Given the description of an element on the screen output the (x, y) to click on. 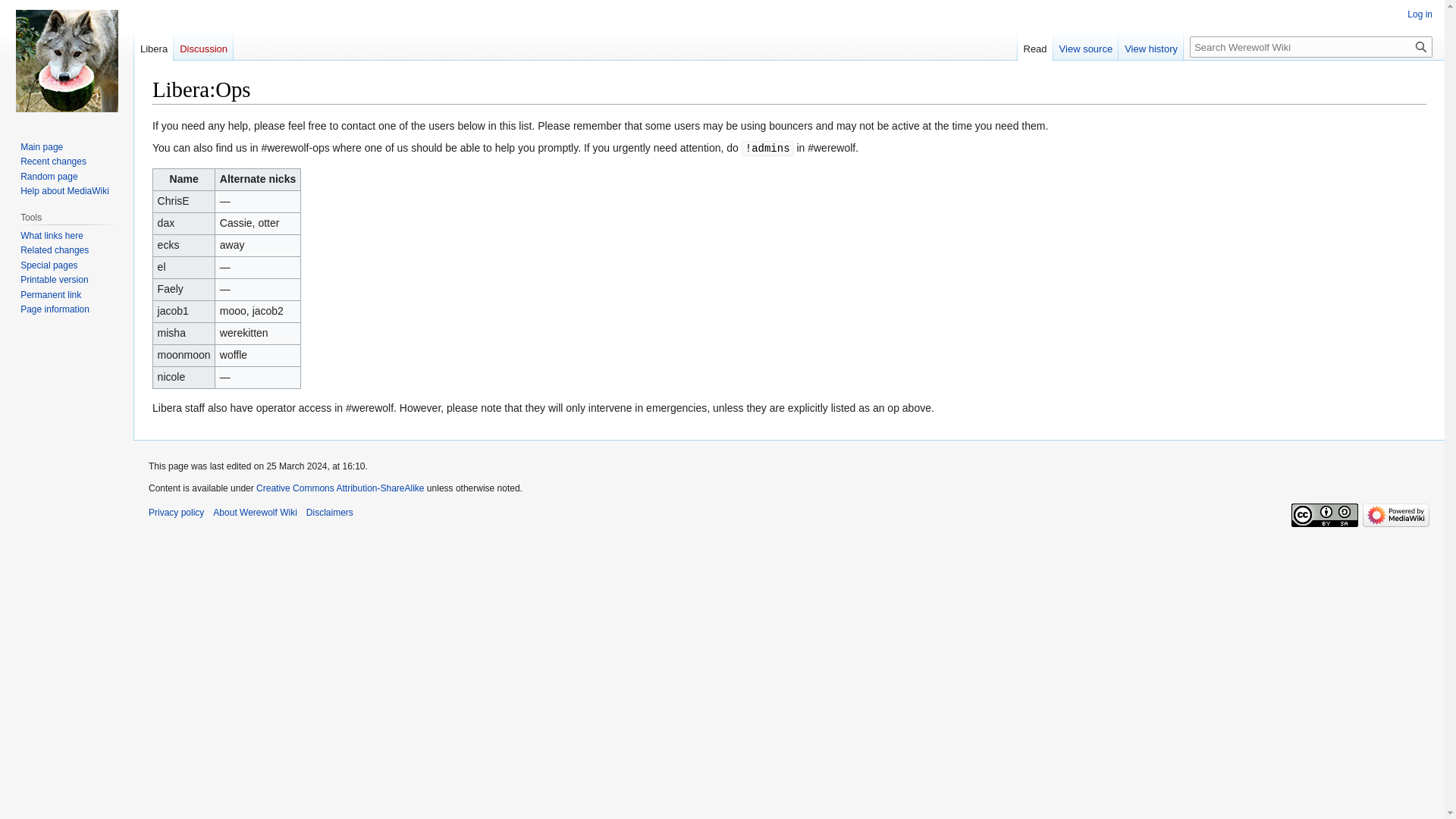
Visit the main page (66, 60)
Permanent link to this revision of this page (50, 294)
More information about this page (54, 308)
Help about MediaWiki (64, 190)
View source (1085, 45)
Discussion (202, 45)
Creative Commons Attribution-ShareAlike (339, 488)
View history (1150, 45)
About Werewolf Wiki (254, 511)
Printable version (53, 279)
